Given the description of an element on the screen output the (x, y) to click on. 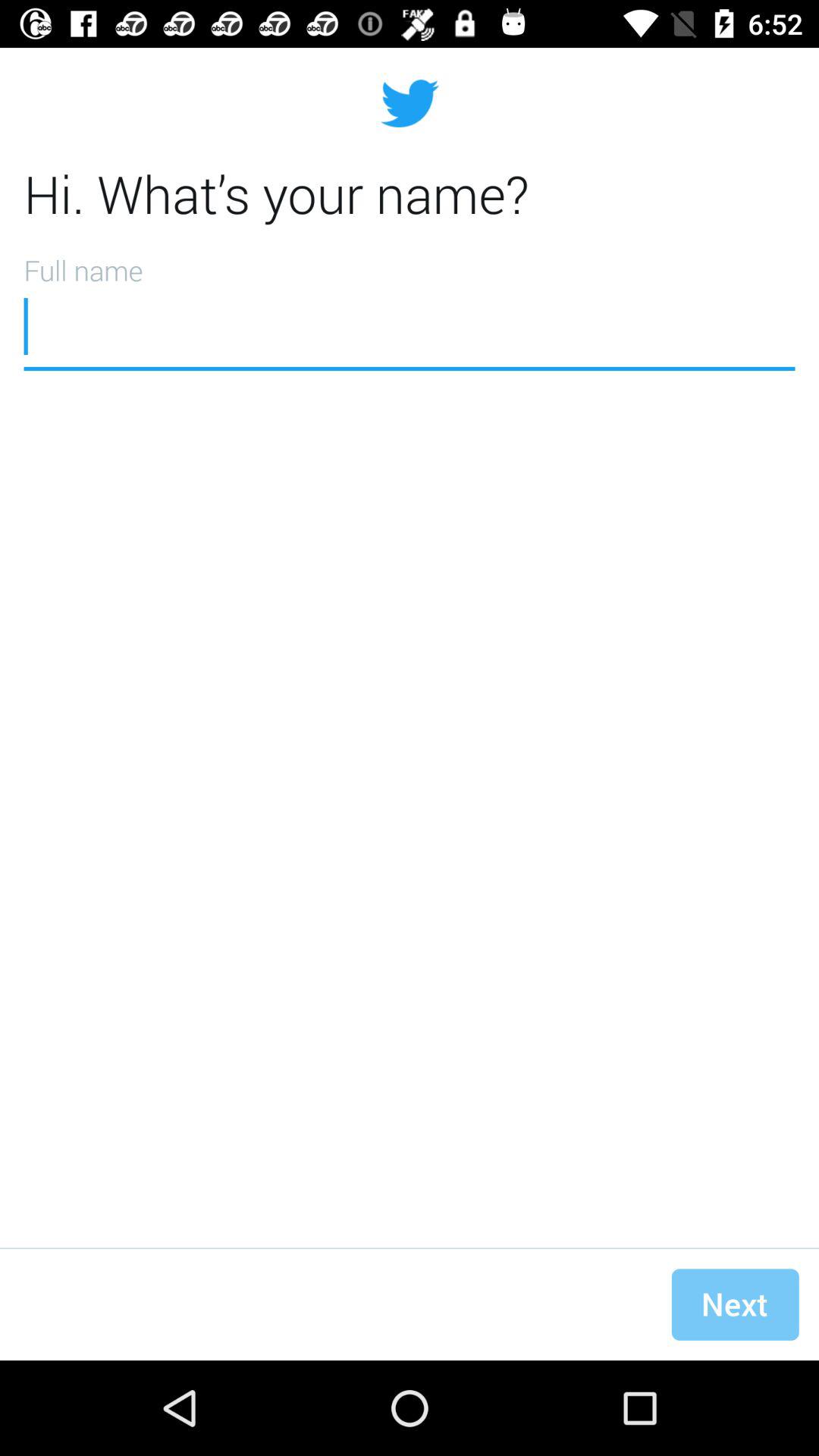
scroll until next item (735, 1304)
